Given the description of an element on the screen output the (x, y) to click on. 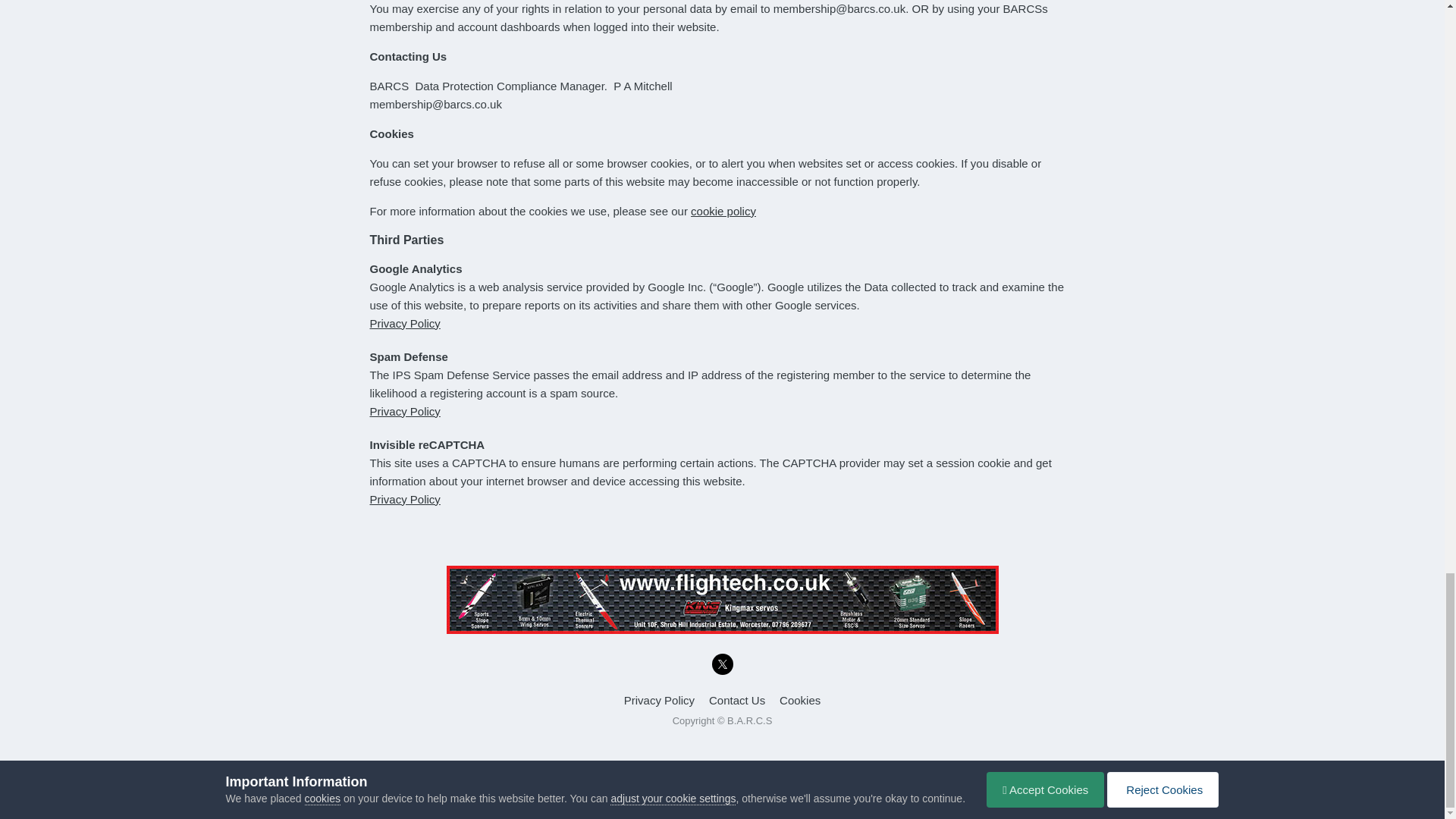
Privacy Policy (405, 499)
Privacy Policy (405, 323)
Privacy Policy (405, 410)
Contact Us (737, 699)
Privacy Policy (659, 699)
Cookies (799, 699)
cookie policy (722, 210)
